Given the description of an element on the screen output the (x, y) to click on. 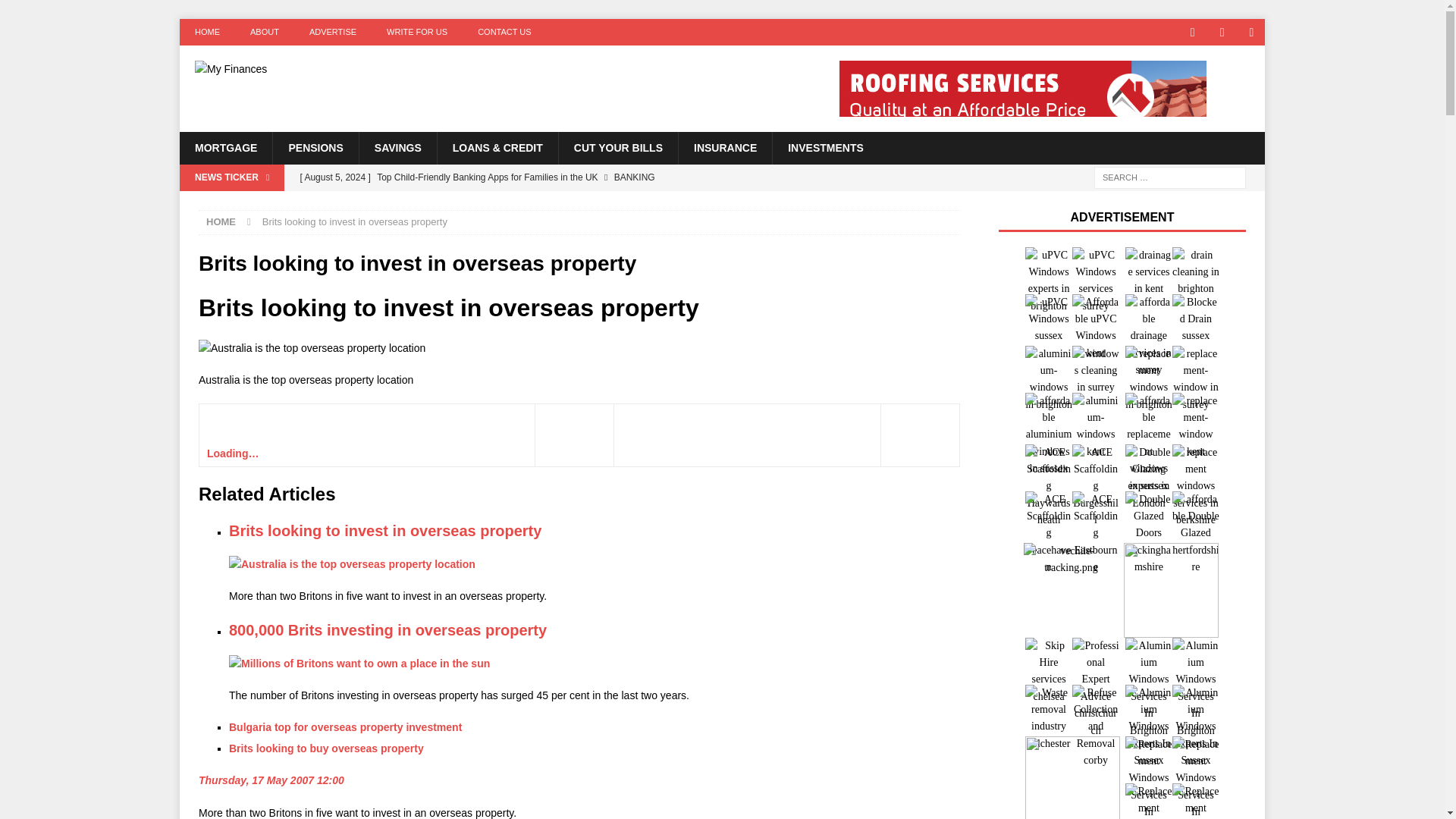
Thursday, 17 May 2007 12:00 (270, 779)
Australia is the top overseas property location (311, 347)
comments (232, 453)
ADVERTISE (332, 31)
5 Affordable Destinations for Cheap Golf Holidays (589, 203)
ABOUT (264, 31)
SAVINGS (397, 147)
INSURANCE (724, 147)
Millions of Britons want to own a place in the sun (358, 663)
HOME (206, 31)
